Given the description of an element on the screen output the (x, y) to click on. 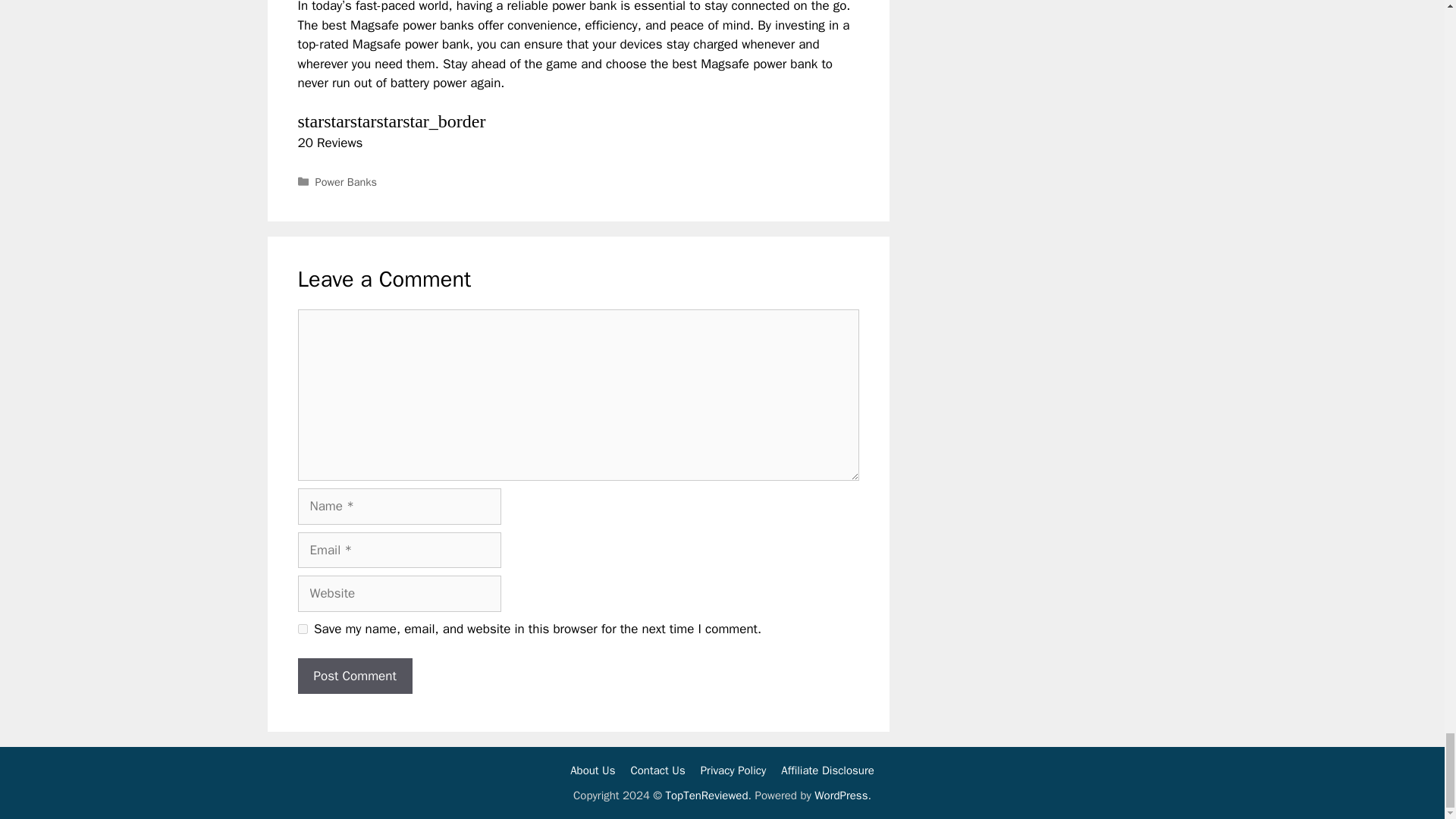
yes (302, 628)
Post Comment (354, 676)
